Given the description of an element on the screen output the (x, y) to click on. 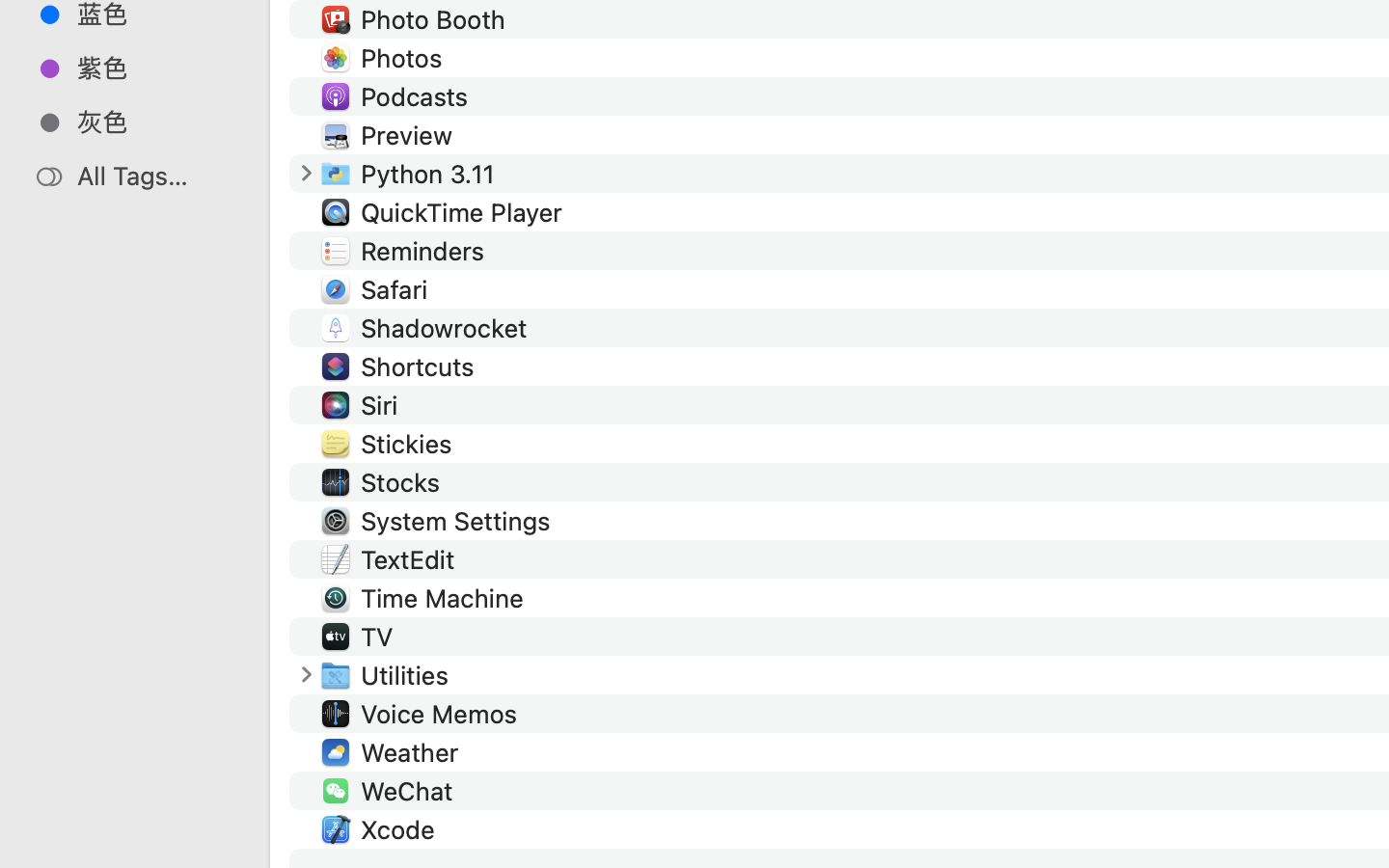
Preview Element type: AXTextField (410, 134)
TV Element type: AXTextField (380, 636)
Tags… Element type: AXStaticText (41, 852)
TextEdit Element type: AXTextField (411, 558)
